Given the description of an element on the screen output the (x, y) to click on. 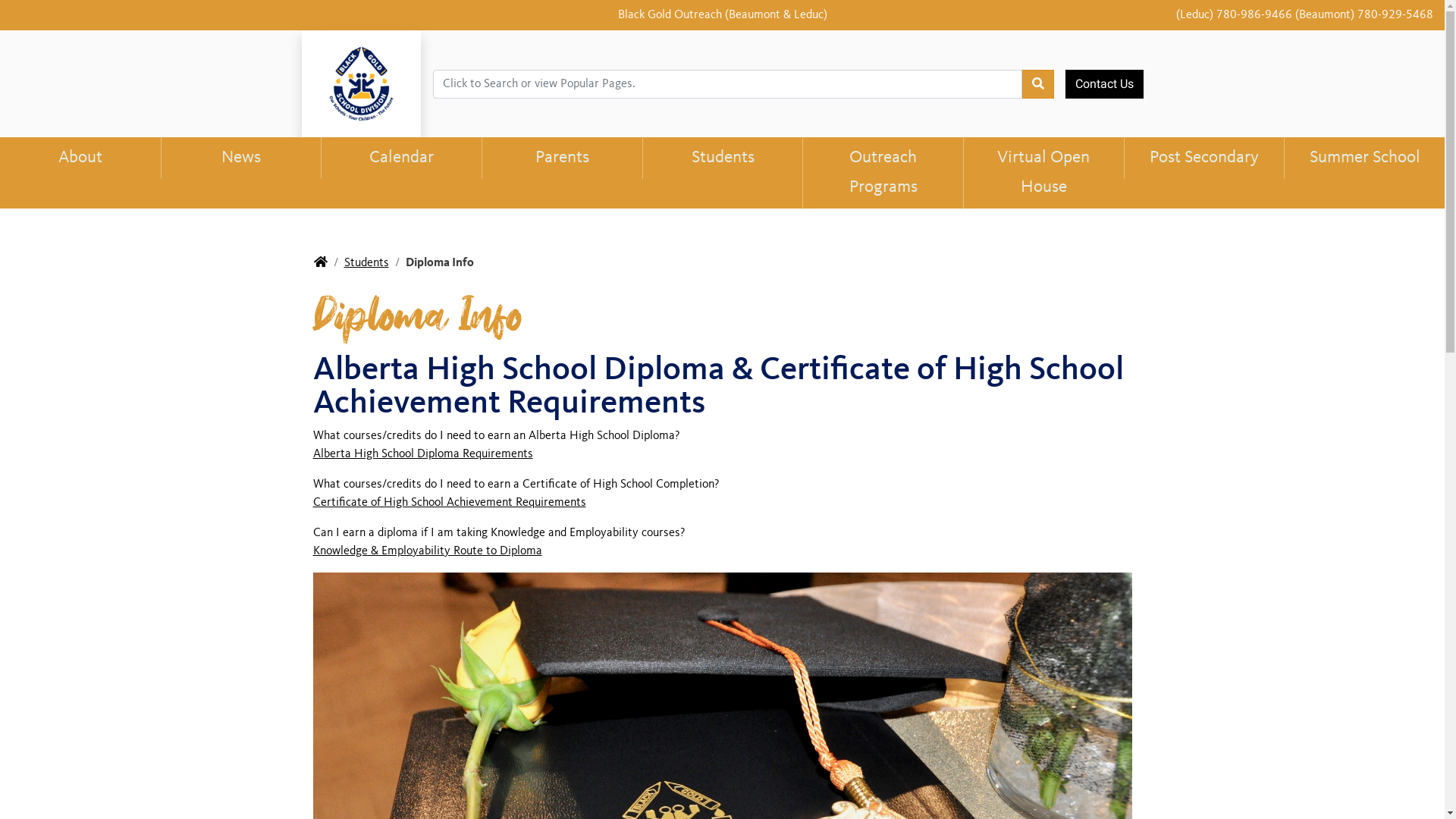
Calendar Element type: text (400, 157)
Summer School Element type: text (1363, 157)
Students Element type: text (722, 157)
Contact Us Element type: text (1103, 83)
Post Secondary Element type: text (1203, 157)
Alberta High School Diploma Requirements Element type: text (422, 454)
Students Element type: text (366, 263)
Virtual Open House Element type: text (1043, 172)
Outreach Programs Element type: text (882, 172)
Certificate of High School Achievement Requirements Element type: text (448, 502)
About Element type: text (80, 157)
Parents Element type: text (561, 157)
News Element type: text (240, 157)
<i class="fas fa-home"></i> Element type: hover (320, 263)
Knowledge & Employability Route to Diploma Element type: text (426, 551)
